Given the description of an element on the screen output the (x, y) to click on. 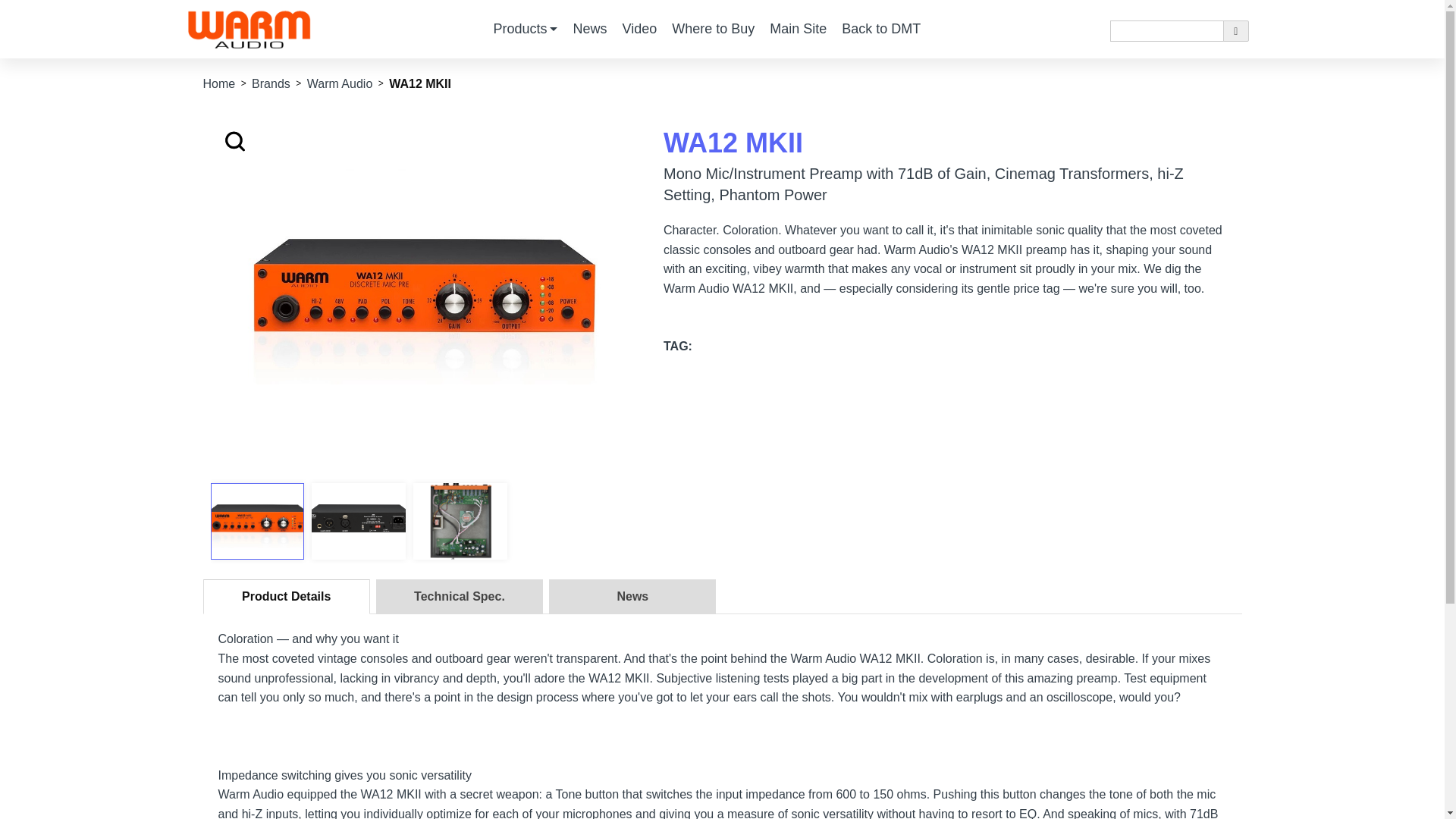
Where to Buy (712, 29)
News (589, 29)
Back to DMT (881, 29)
Main Site (797, 29)
Products (524, 29)
Video (638, 29)
